Given the description of an element on the screen output the (x, y) to click on. 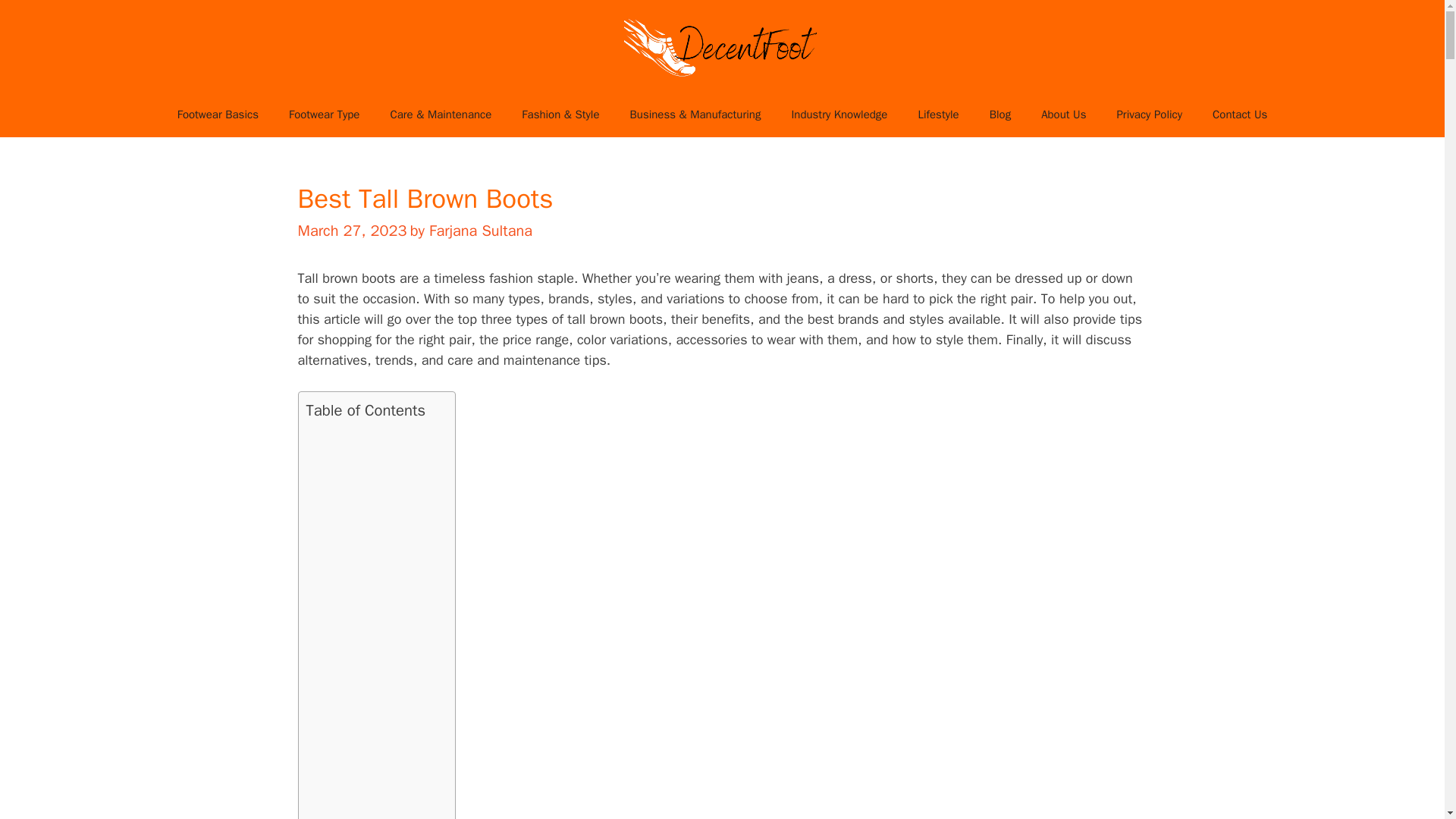
Footwear Type (323, 114)
About Us (1063, 114)
Contact Us (1239, 114)
Footwear Basics (217, 114)
Blog (1000, 114)
View all posts by Farjana Sultana (480, 230)
Farjana Sultana (480, 230)
Privacy Policy (1148, 114)
Lifestyle (938, 114)
Industry Knowledge (839, 114)
